Given the description of an element on the screen output the (x, y) to click on. 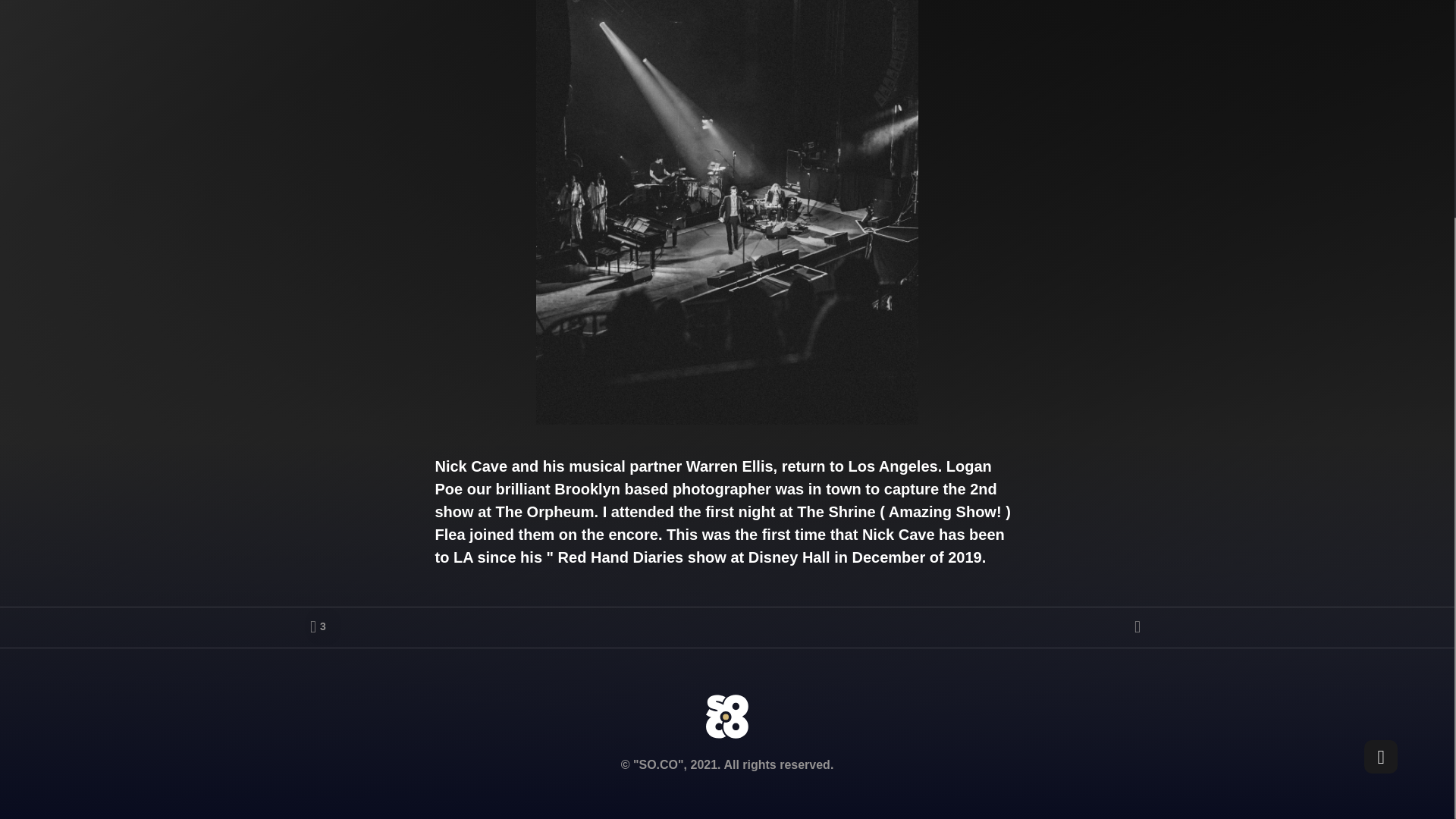
3 (318, 627)
